Given the description of an element on the screen output the (x, y) to click on. 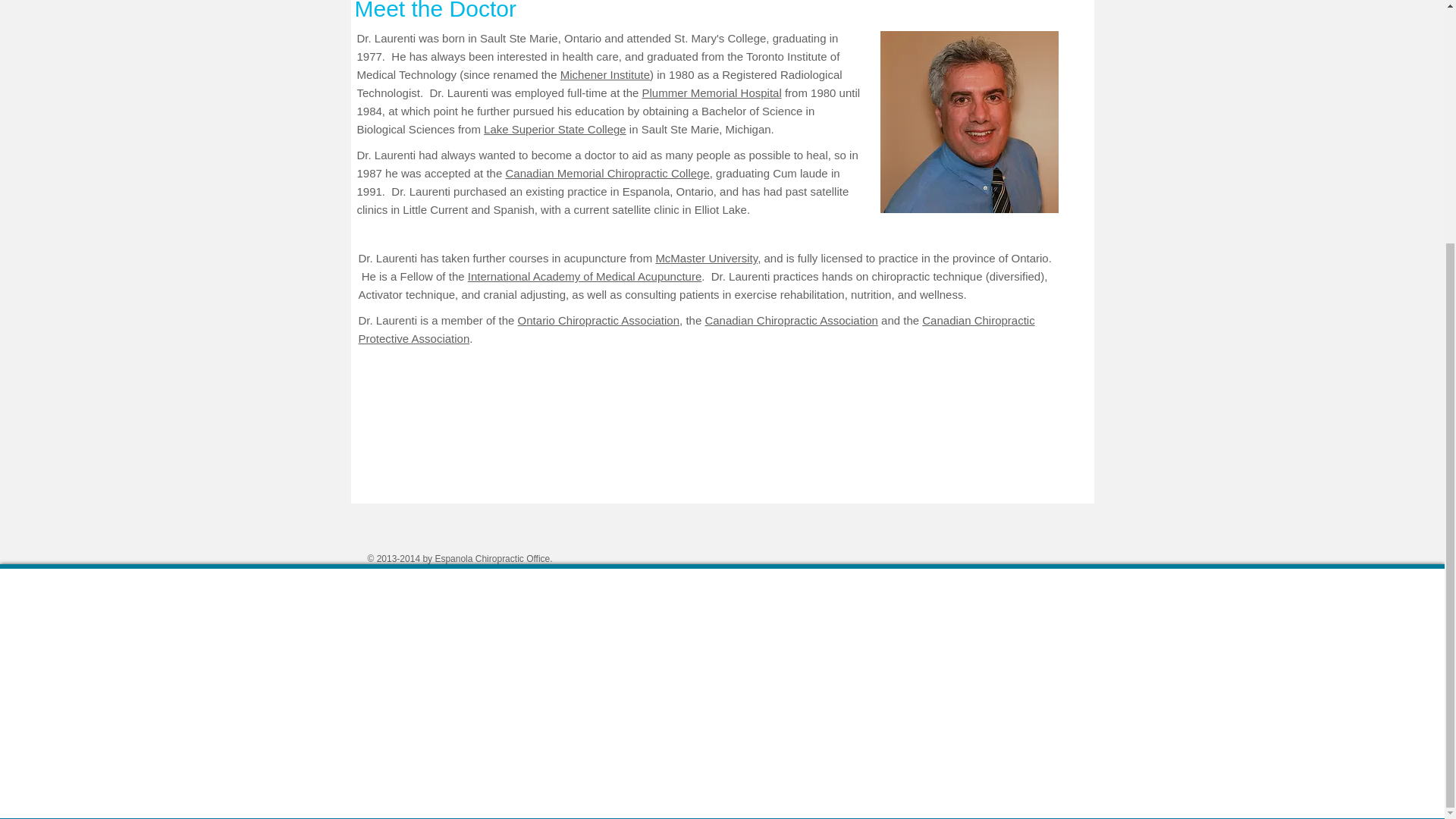
CLICK TO EMAIL ME (968, 121)
Plummer Memorial Hospital (711, 92)
Canadian Chiropractic Association (790, 319)
Michener Institute (604, 74)
Canadian Memorial Chiropractic College (607, 173)
Lake Superior State College (554, 128)
McMaster University (706, 257)
Ontario Chiropractic Association (598, 319)
Canadian Chiropractic Protective Association (695, 328)
International Academy of Medical Acupuncture (584, 276)
